Given the description of an element on the screen output the (x, y) to click on. 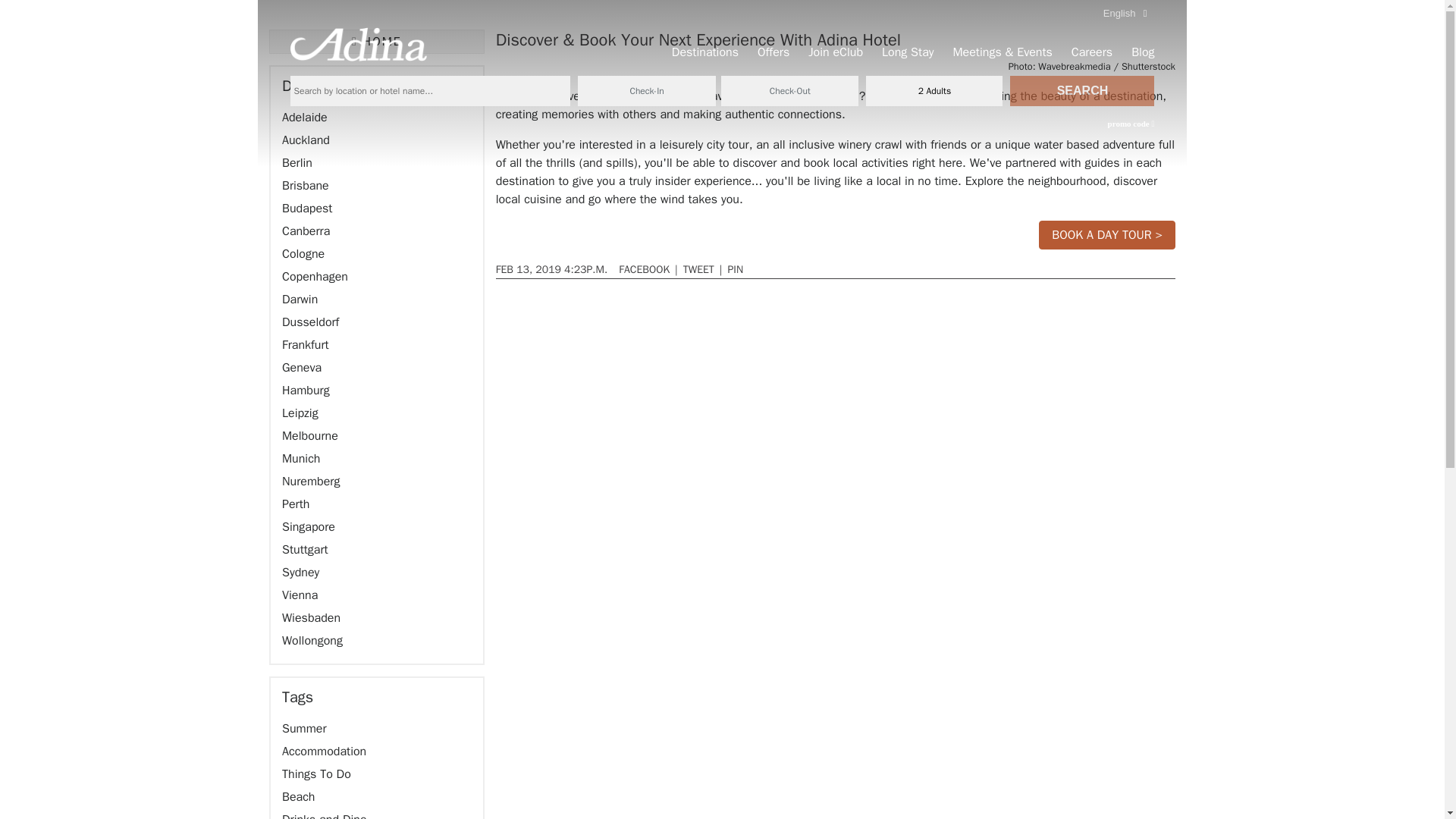
Destinations (704, 52)
Adelaide (304, 117)
Berlin (297, 162)
Careers (1091, 52)
Budapest (306, 208)
Auckland (306, 140)
Join eClub (835, 52)
SEARCH (1082, 91)
Long Stay (907, 52)
Brisbane (305, 185)
